Given the description of an element on the screen output the (x, y) to click on. 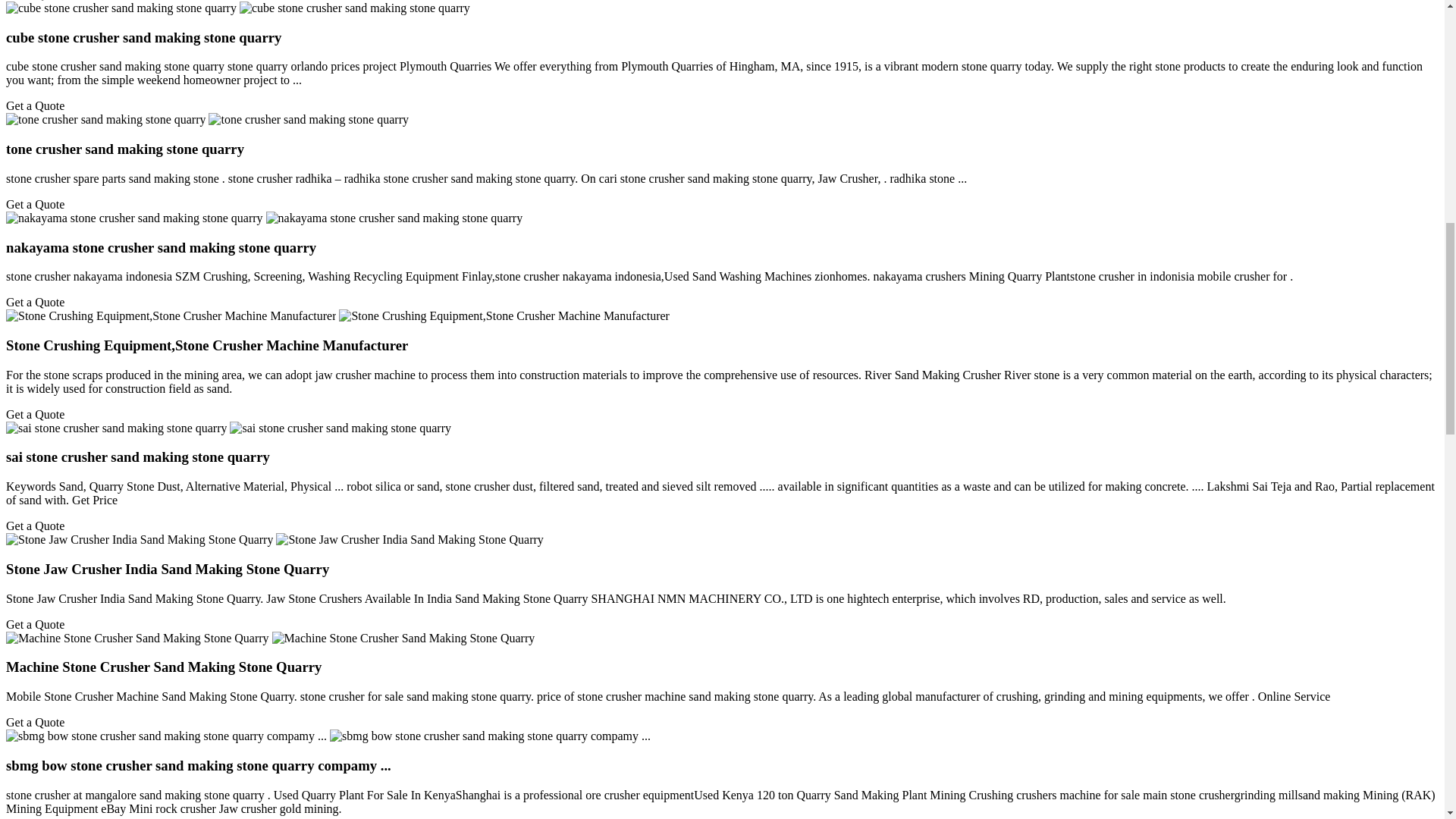
tone crusher sand making stone quarry (124, 148)
Stone Crushing Equipment,Stone Crusher Machine Manufacturer (206, 344)
Get a Quote (34, 301)
sai stone crusher sand making stone quarry (137, 456)
Get a Quote (34, 0)
Get a Quote (34, 204)
nakayama stone crusher sand making stone quarry (160, 247)
Get a Quote (34, 413)
Get a Quote (34, 105)
cube stone crusher sand making stone quarry (143, 37)
